Given the description of an element on the screen output the (x, y) to click on. 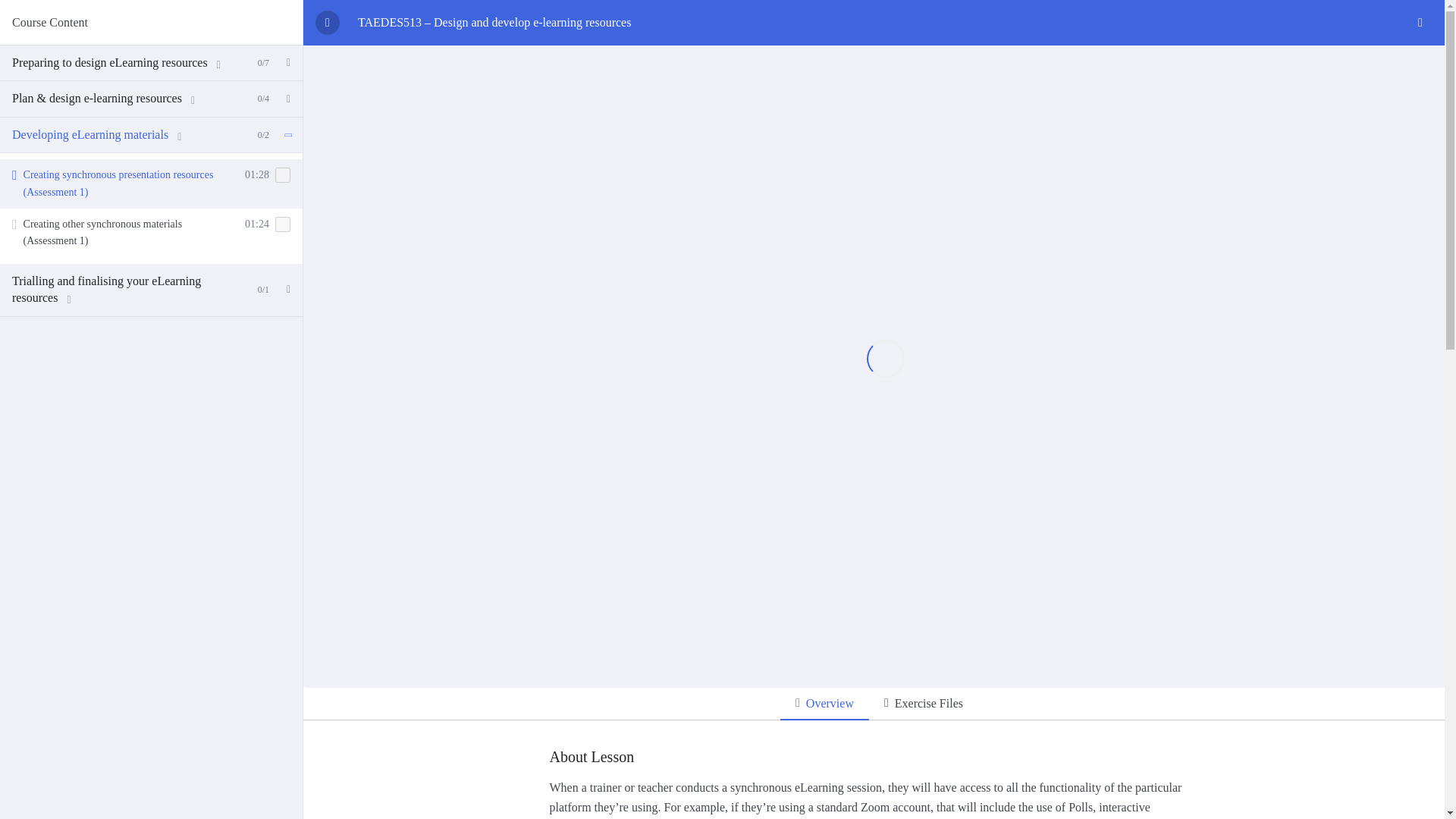
on (282, 174)
Exercise Files (923, 704)
Overview (824, 704)
on (282, 224)
